Given the description of an element on the screen output the (x, y) to click on. 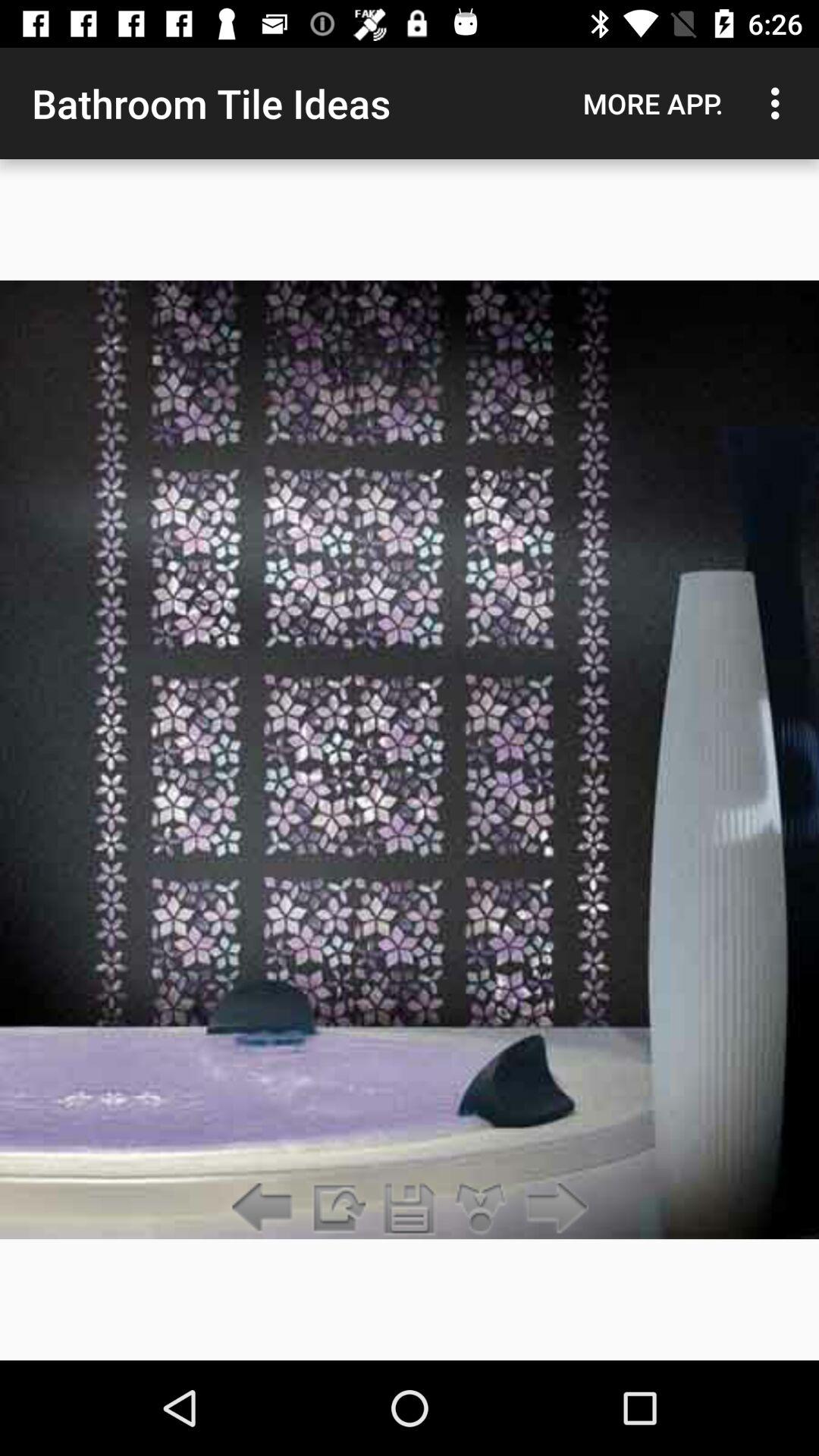
scroll to the more app. (653, 103)
